Given the description of an element on the screen output the (x, y) to click on. 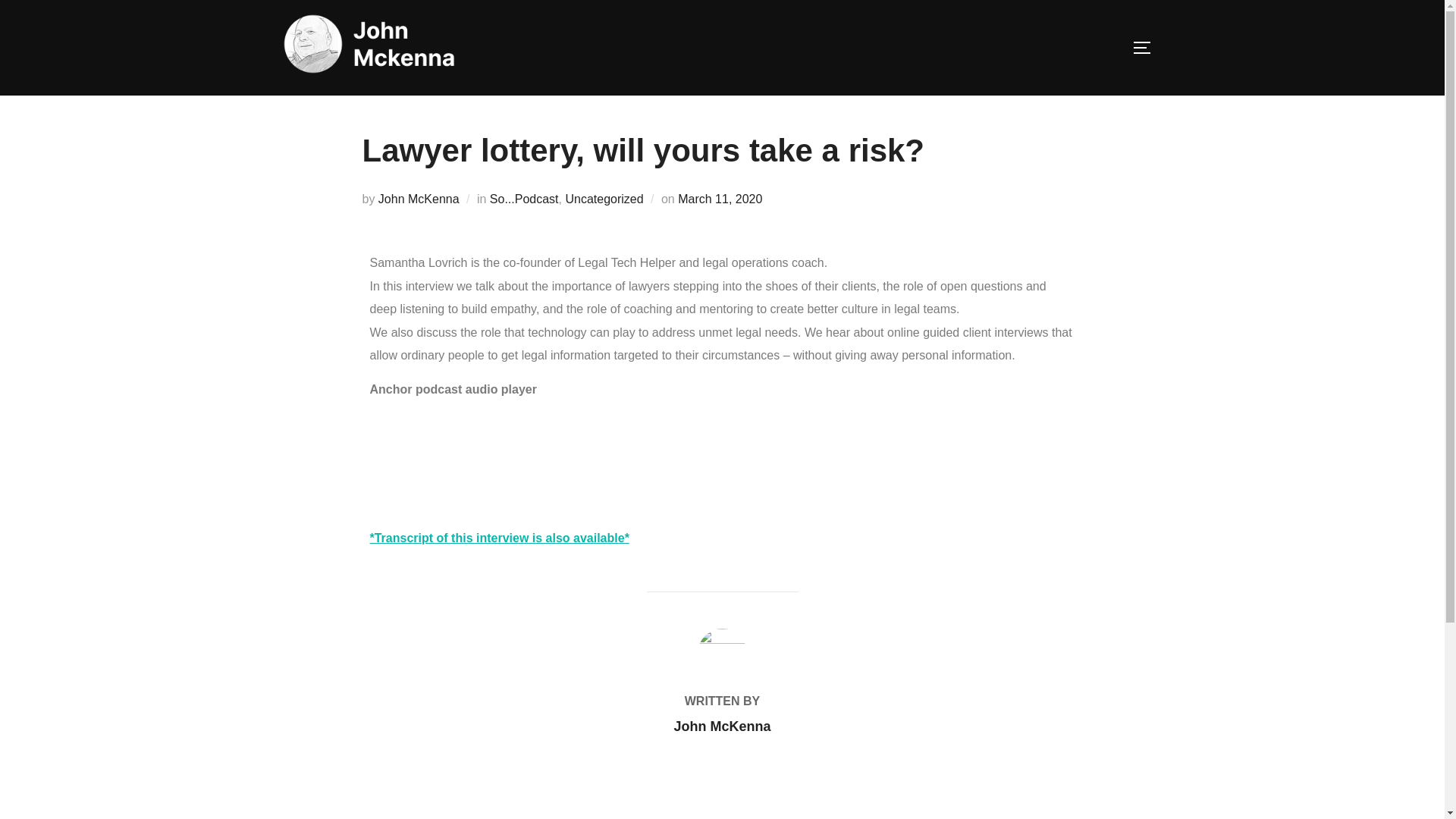
John McKenna (721, 726)
John McKenna (419, 198)
Uncategorized (603, 198)
March 11, 2020 (719, 198)
Posts by John McKenna (721, 726)
So...Podcast (524, 198)
